Given the description of an element on the screen output the (x, y) to click on. 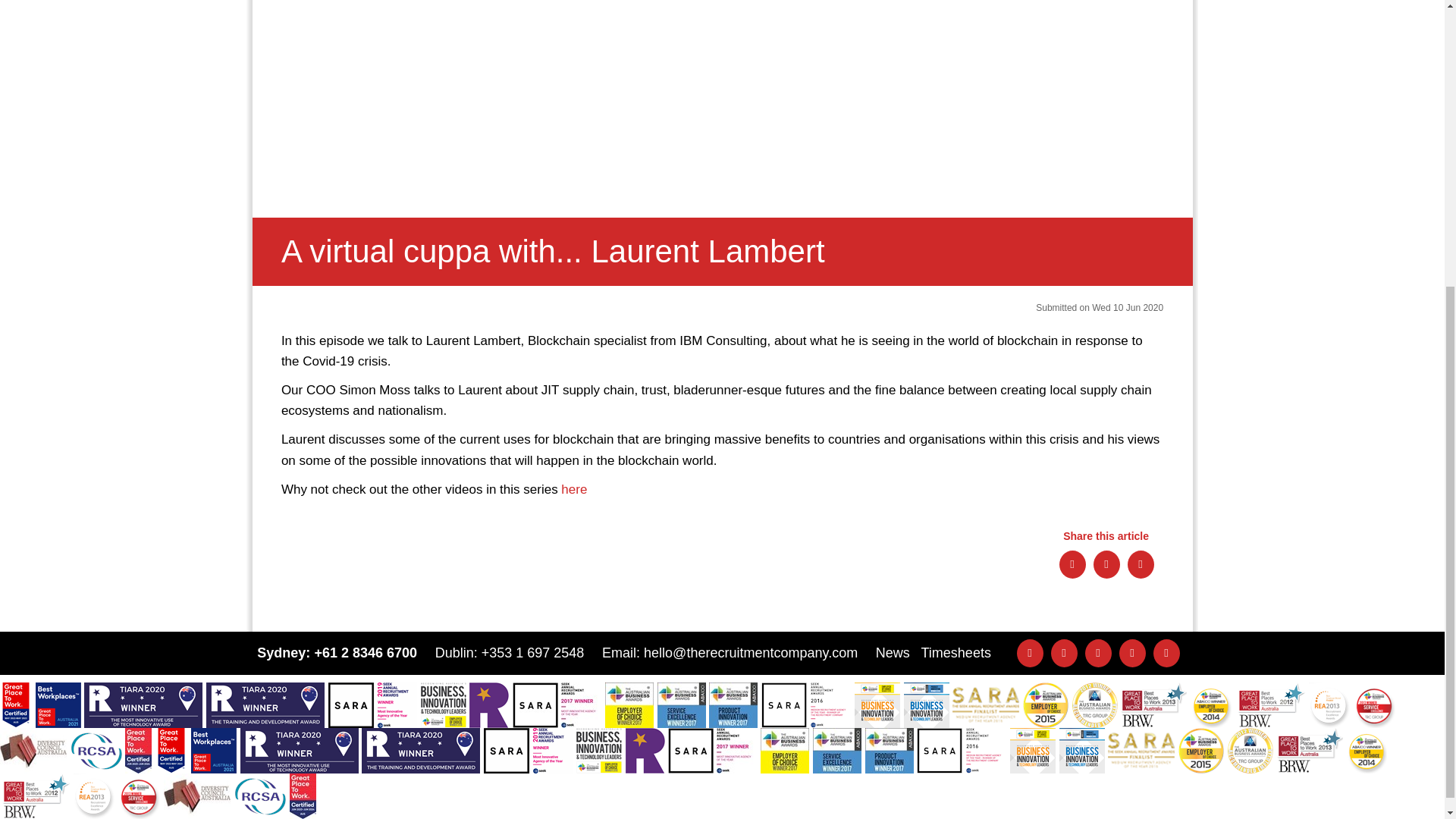
Timesheets (956, 652)
here  (575, 489)
News (893, 652)
